Given the description of an element on the screen output the (x, y) to click on. 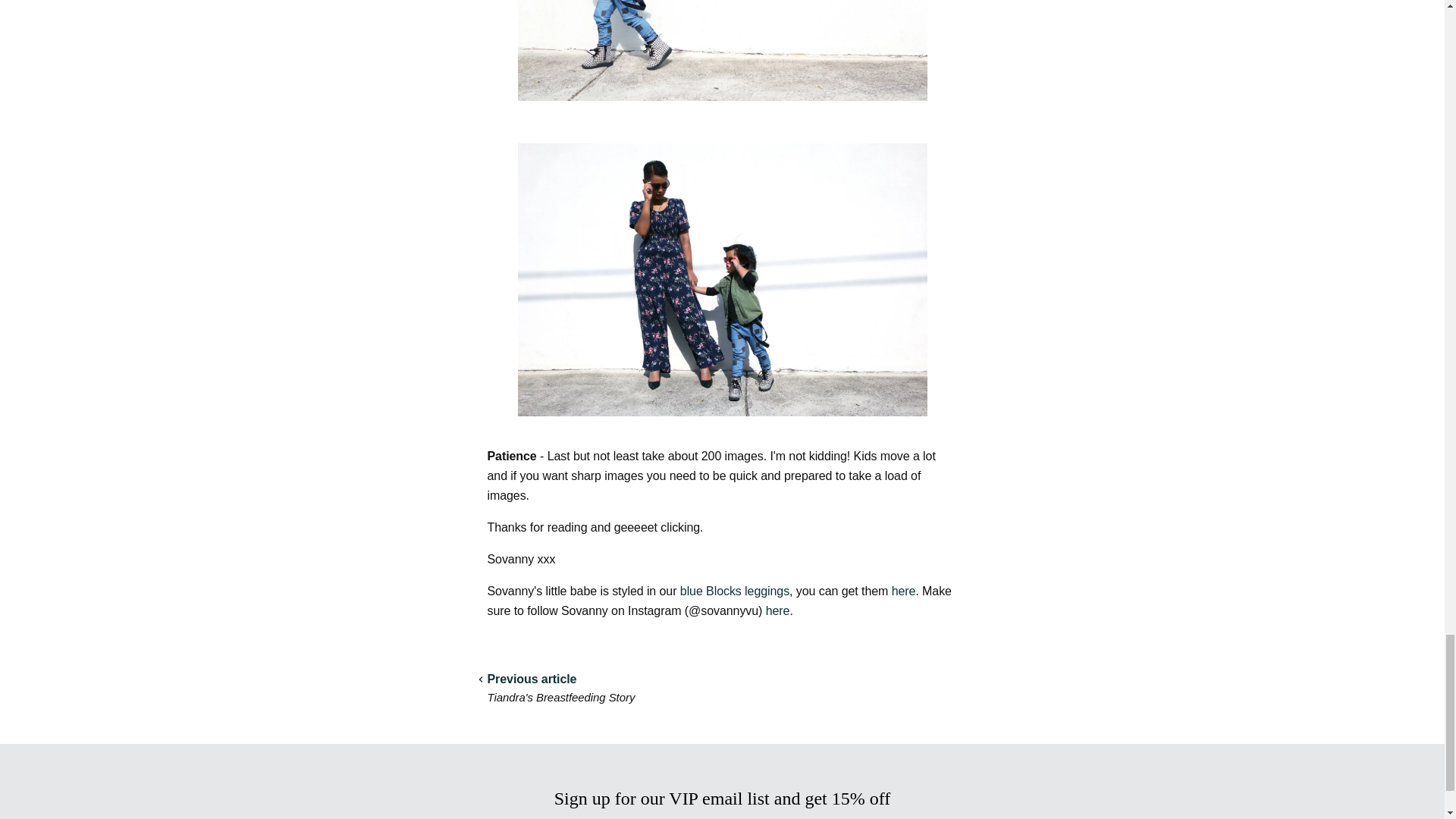
blue Blocks leggings (734, 590)
here (777, 610)
here (903, 590)
